Given the description of an element on the screen output the (x, y) to click on. 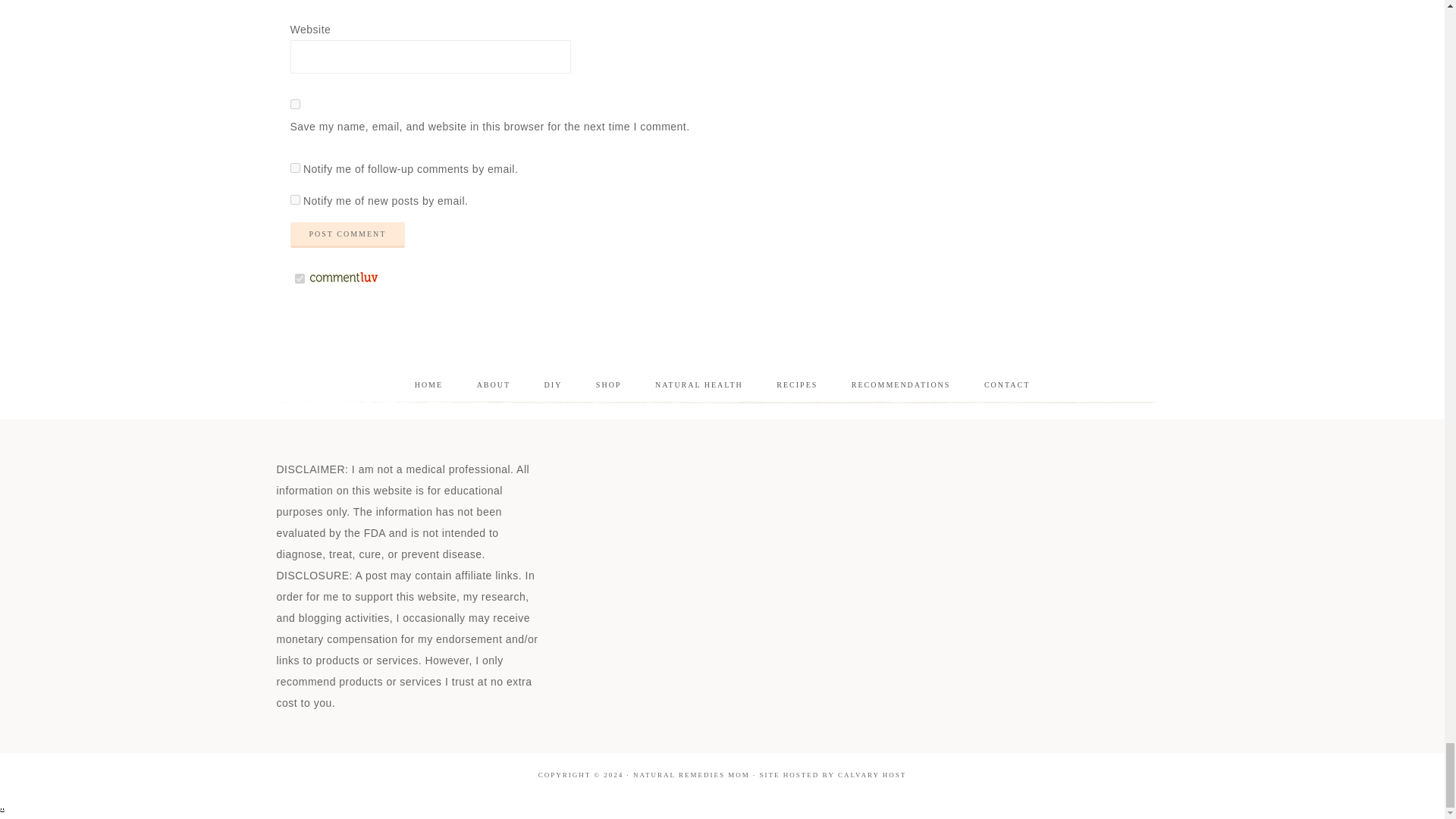
Post Comment (346, 234)
CommentLuv is enabled (343, 279)
subscribe (294, 167)
on (298, 278)
subscribe (294, 199)
yes (294, 103)
